Given the description of an element on the screen output the (x, y) to click on. 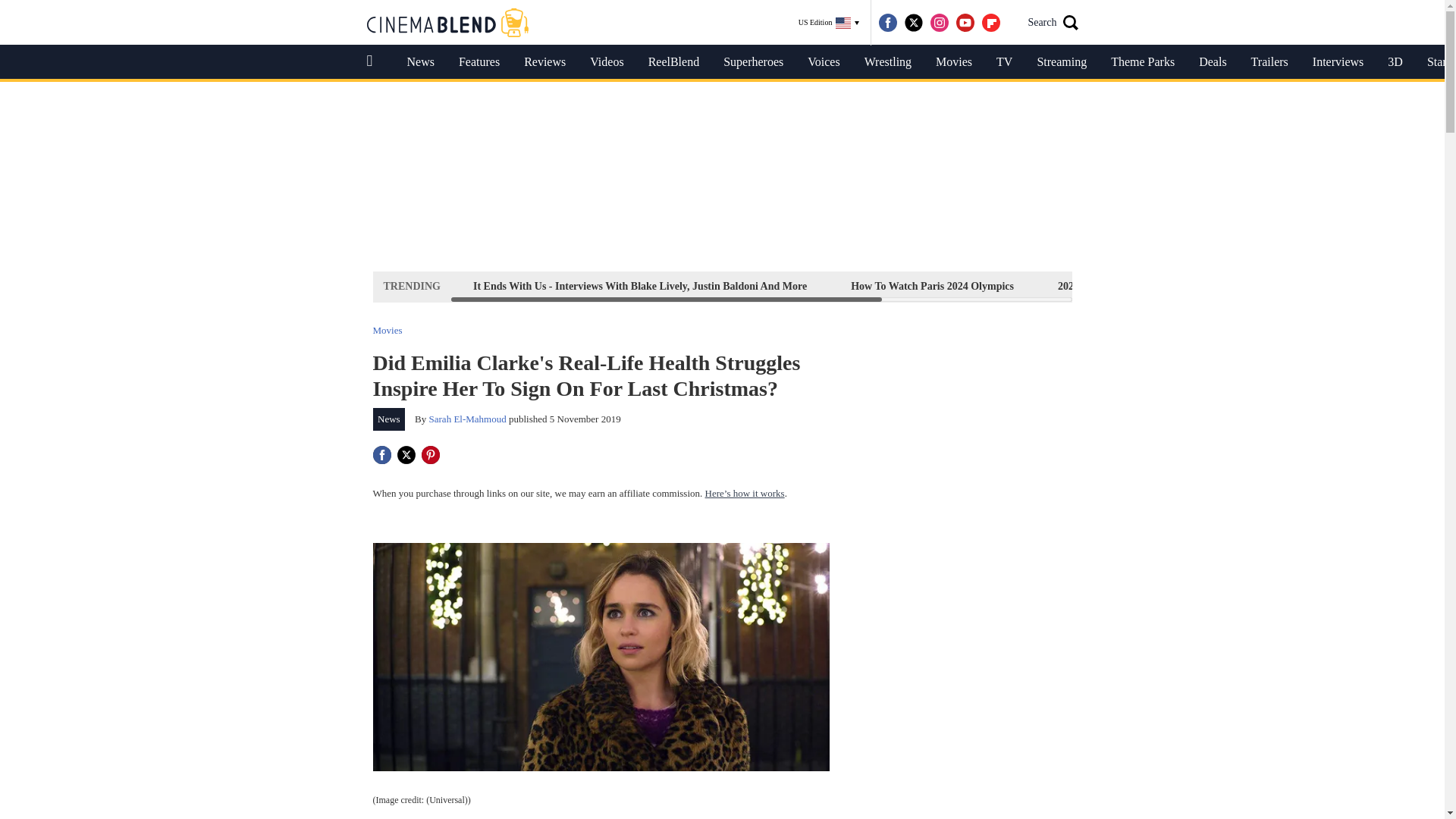
ReelBlend (673, 61)
Streaming (1062, 61)
Wrestling (887, 61)
Videos (606, 61)
2024 Upcoming Movies (1110, 286)
US Edition (828, 22)
Movies (953, 61)
3D (1395, 61)
Interviews (1337, 61)
News (419, 61)
